Given the description of an element on the screen output the (x, y) to click on. 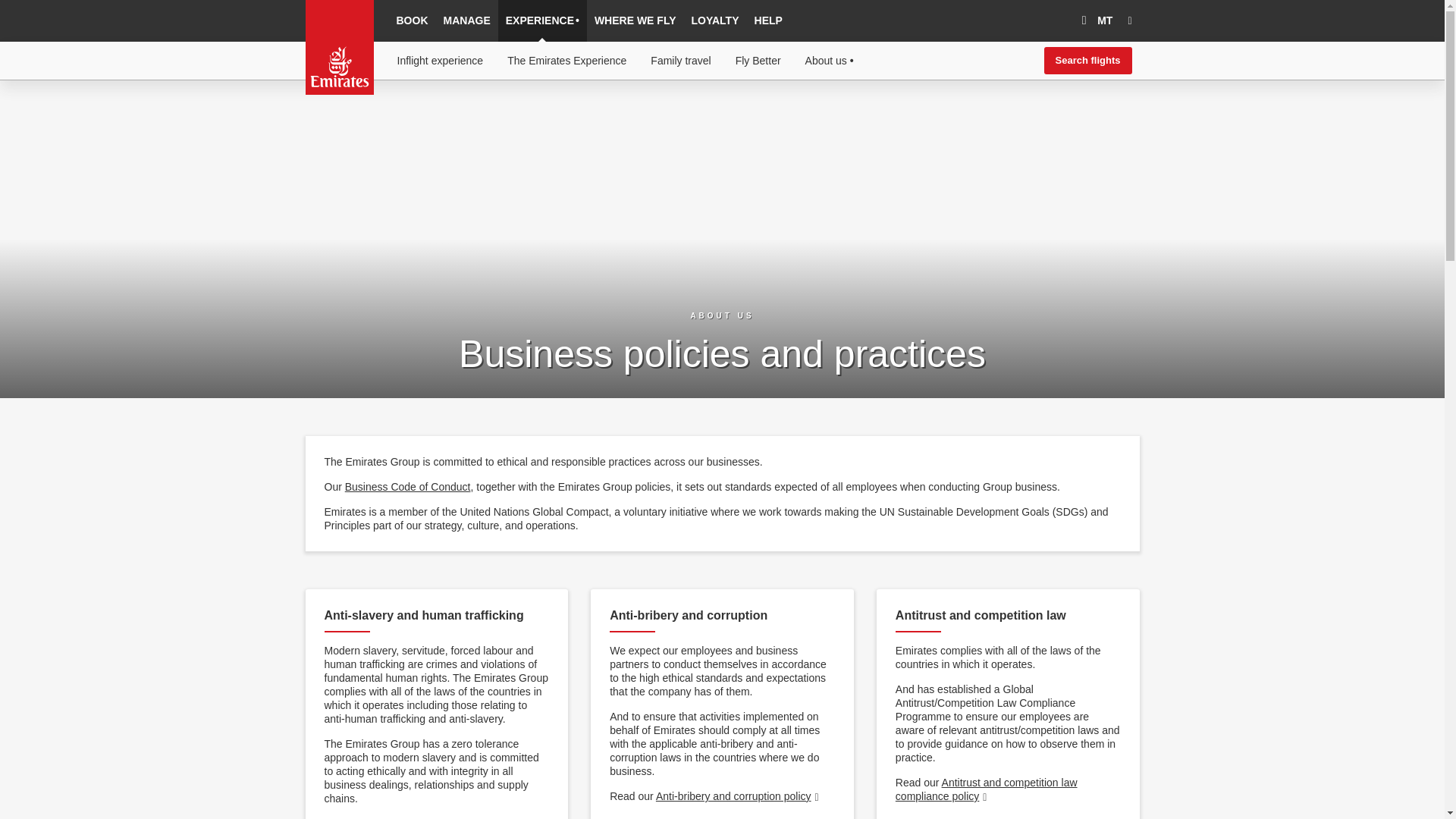
Skip to the main content (382, 116)
HELP (768, 20)
LOYALTY (715, 20)
anti-bribery-policy-emirates.pdf (739, 796)
the-emirates-group-business-code-of-conduct.pdf (407, 486)
MANAGE (466, 20)
BOOK (411, 20)
Accessibility information (383, 116)
emirates-antitrust-and-competition-law-policy.pdf (986, 789)
WHERE WE FLY (635, 20)
Search flights (1087, 60)
MT (1093, 20)
